Given the description of an element on the screen output the (x, y) to click on. 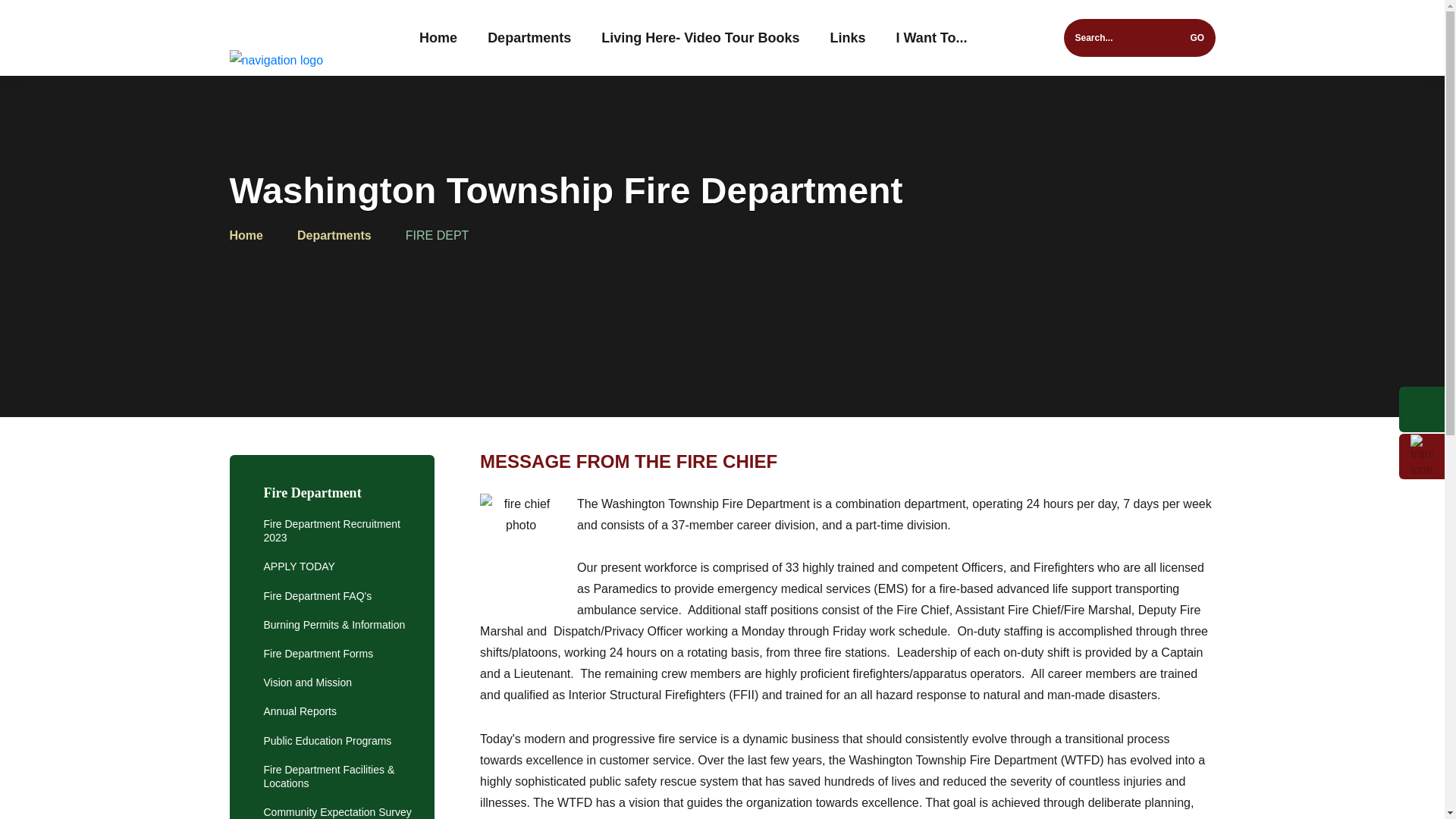
Living Here- Video Tour Books (699, 38)
Home (437, 38)
Departments (528, 38)
